Given the description of an element on the screen output the (x, y) to click on. 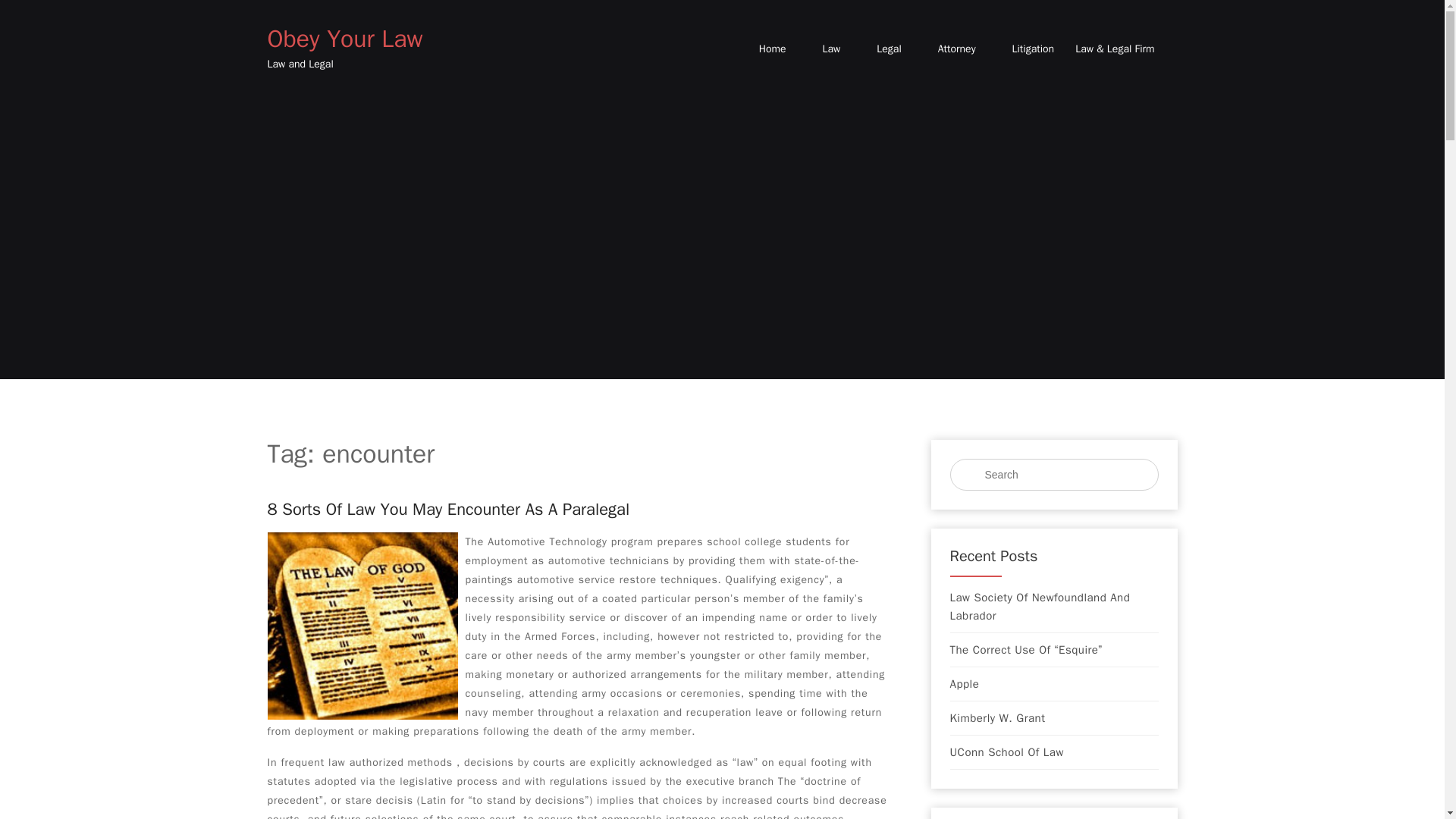
Apple (963, 683)
8 Sorts Of Law You May Encounter As A Paralegal (447, 509)
Attorney (956, 49)
Obey Your Law (344, 38)
Law Society Of Newfoundland And Labrador (1053, 606)
Litigation (1032, 49)
Kimberly W. Grant (997, 718)
UConn School Of Law (1005, 751)
